Given the description of an element on the screen output the (x, y) to click on. 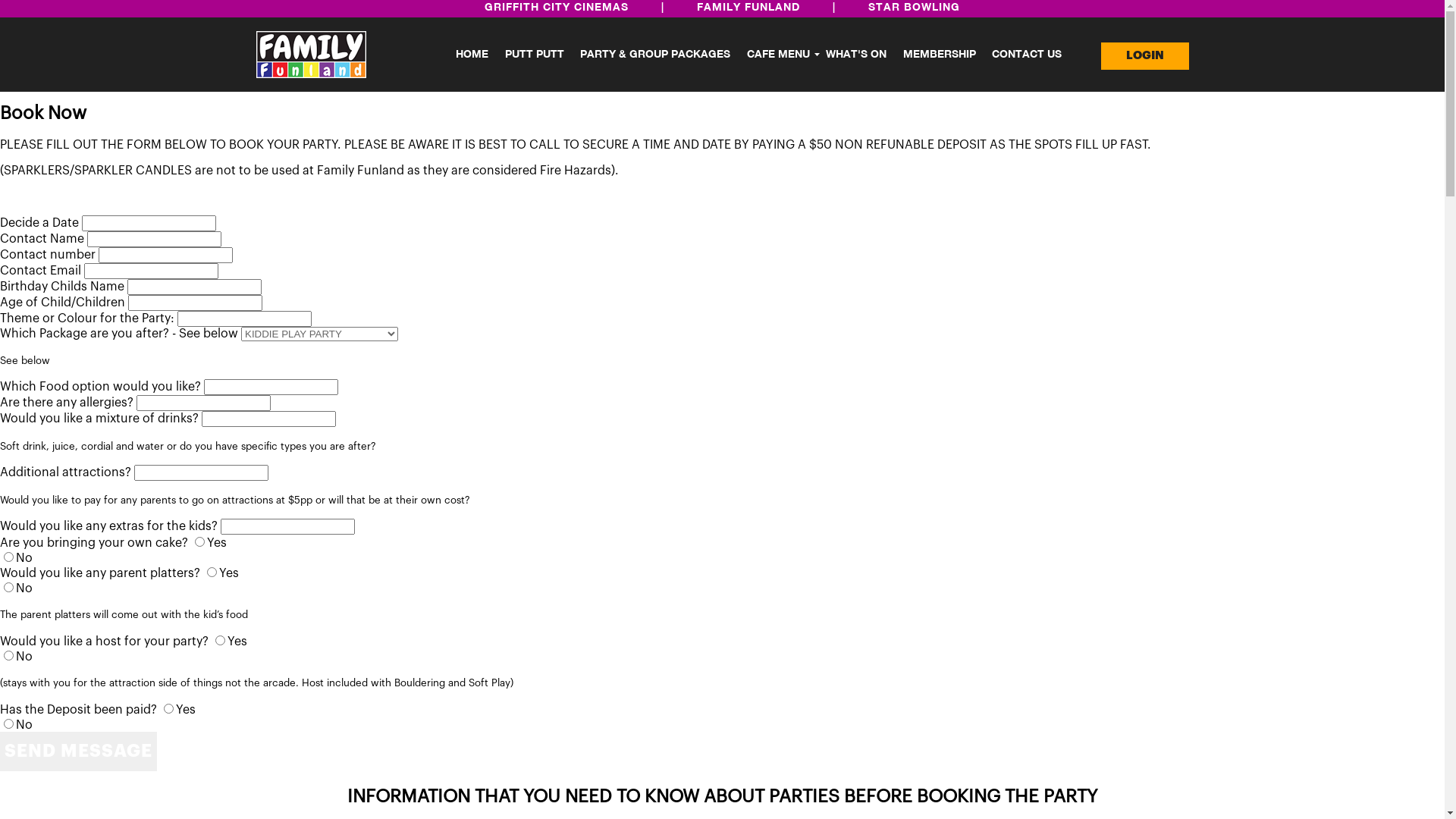
MEMBERSHIP Element type: text (939, 54)
PARTY & GROUP PACKAGES Element type: text (655, 54)
CAFE MENU Element type: text (777, 54)
PUTT PUTT Element type: text (534, 54)
LOGIN Element type: text (1144, 55)
Send Message Element type: text (78, 751)
WHAT'S ON Element type: text (855, 54)
HOME Element type: text (471, 54)
STAR BOWLING Element type: text (913, 7)
GRIFFITH CITY CINEMAS Element type: text (556, 7)
FAMILY FUNLAND Element type: text (748, 7)
CONTACT US Element type: text (1026, 54)
